Given the description of an element on the screen output the (x, y) to click on. 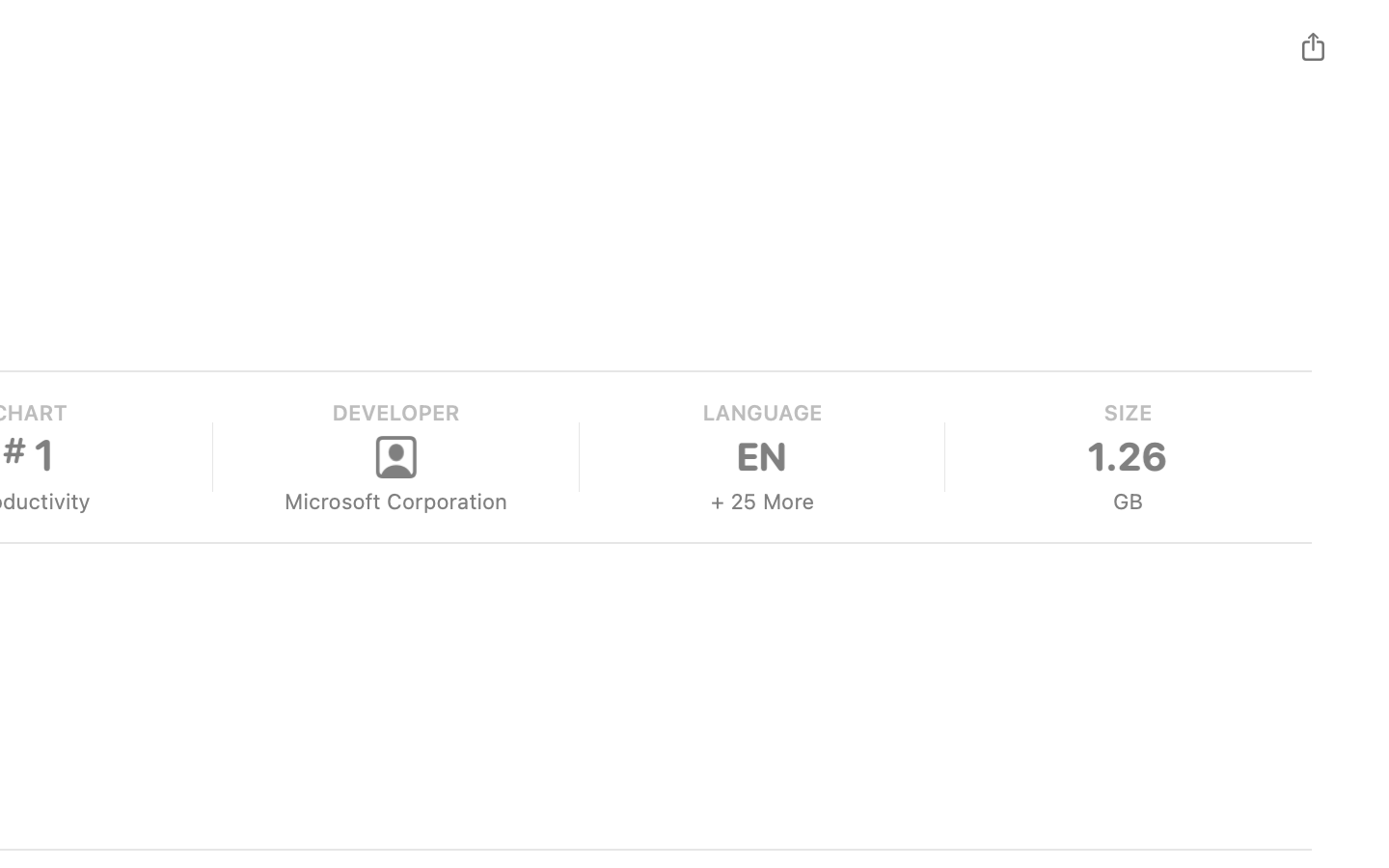
Microsoft Corporation, DEVELOPER, selfie Element type: AXStaticText (394, 456)
LANGUAGE Element type: AXStaticText (760, 412)
1.26 Element type: AXStaticText (1126, 457)
Microsoft Corporation Element type: AXStaticText (394, 501)
+ 25 More, LANGUAGE, EN Element type: AXStaticText (760, 456)
